Given the description of an element on the screen output the (x, y) to click on. 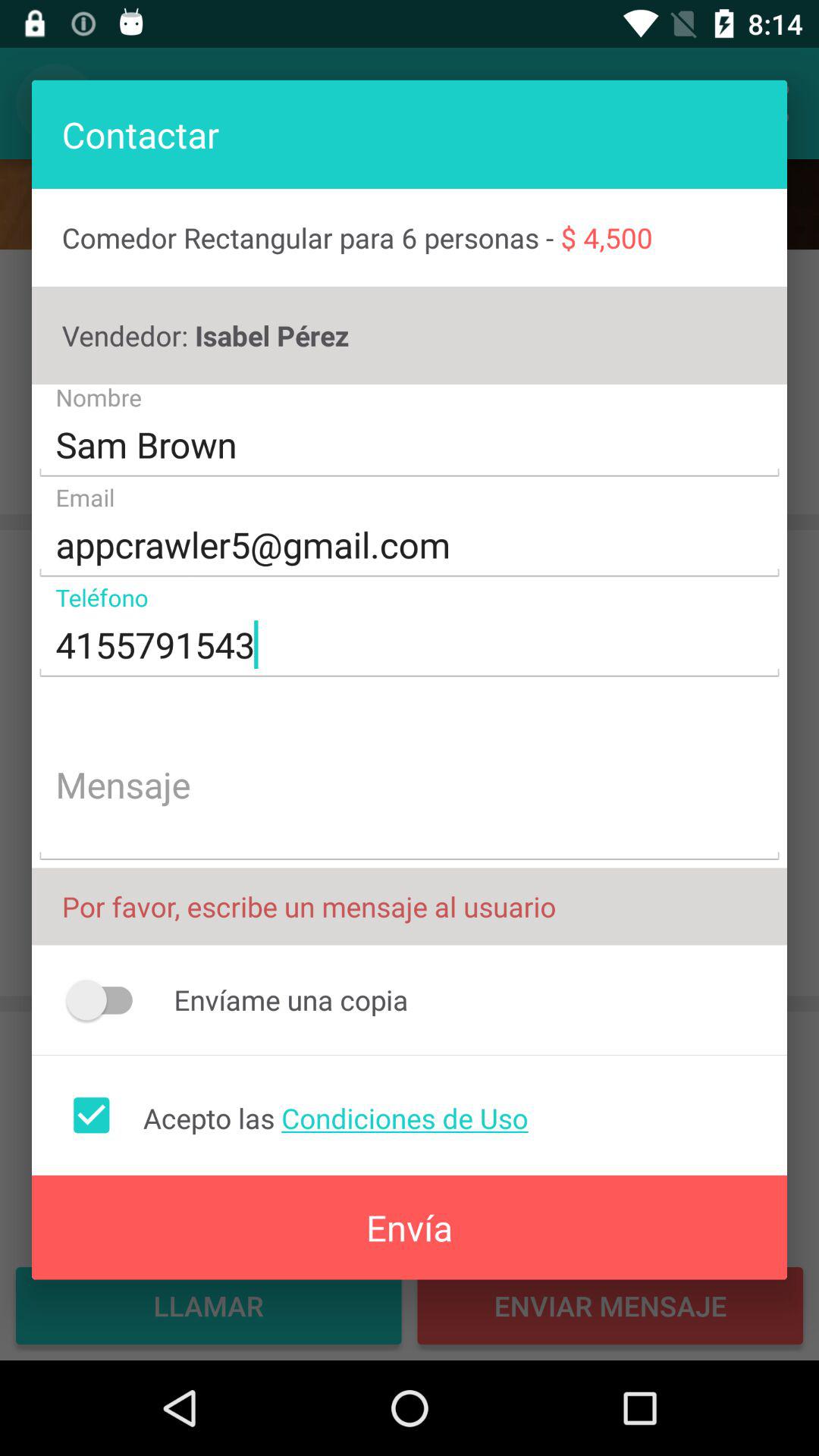
turn on item to the left of the acepto las condiciones (91, 1115)
